Given the description of an element on the screen output the (x, y) to click on. 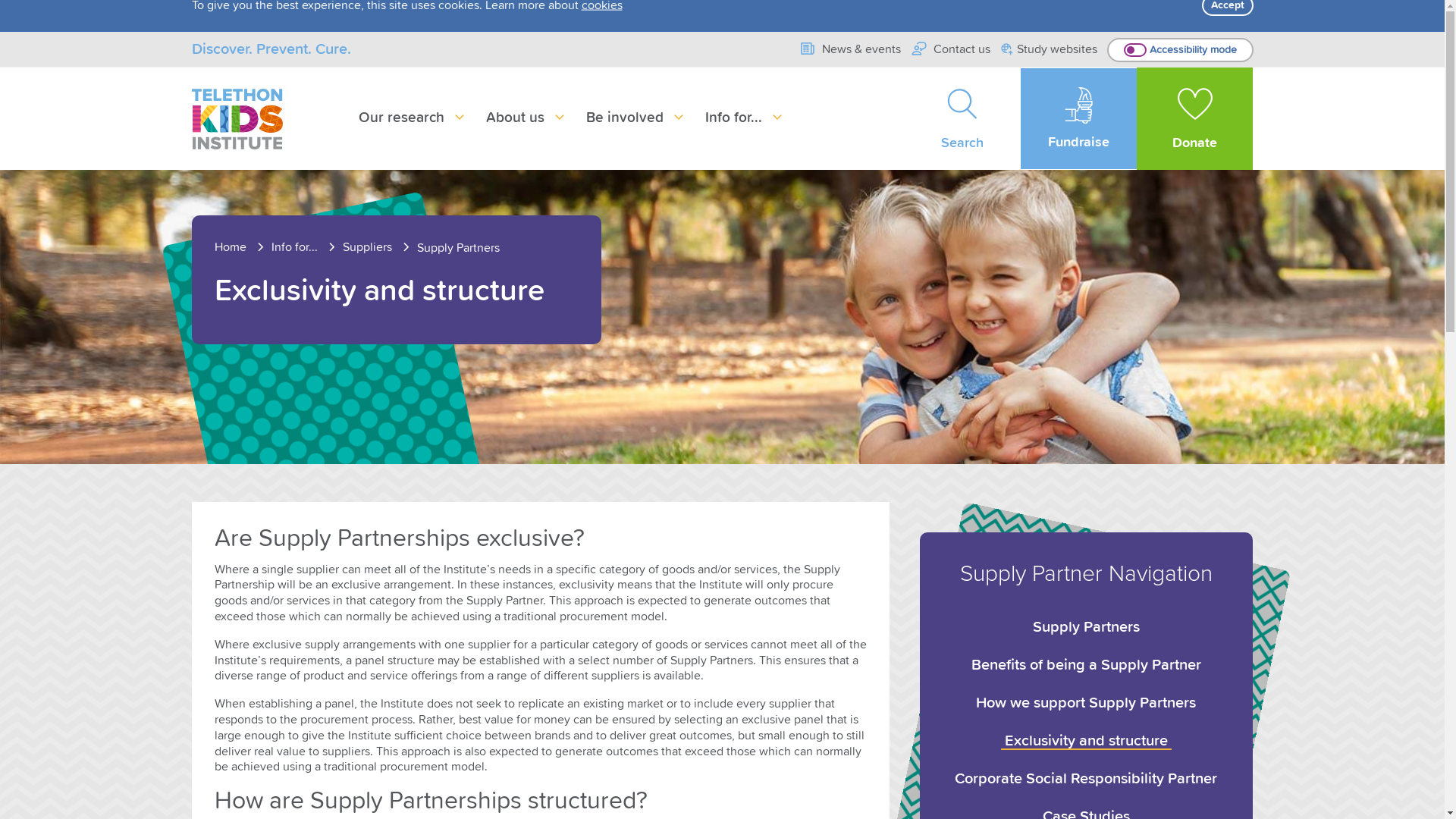
Search Element type: text (962, 118)
Suppliers Element type: text (378, 247)
Study websites Element type: text (1049, 50)
Benefits of being a Supply Partner Element type: text (1085, 665)
Info for... Element type: text (305, 247)
Be involved Element type: text (635, 117)
Fundraise Element type: text (1078, 118)
Supply Partners Element type: text (458, 247)
Contact us Element type: text (950, 49)
Corporate Social Responsibility Partner Element type: text (1085, 778)
Donate Element type: text (1194, 118)
Home Element type: text (240, 247)
About us Element type: text (525, 117)
News & events Element type: text (849, 49)
Accessibility mode Element type: text (1180, 49)
Exclusivity and structure Element type: text (1086, 737)
Our research Element type: text (411, 117)
Supply Partners Element type: text (1085, 627)
Info for... Element type: text (744, 117)
How we support Supply Partners Element type: text (1085, 702)
